Given the description of an element on the screen output the (x, y) to click on. 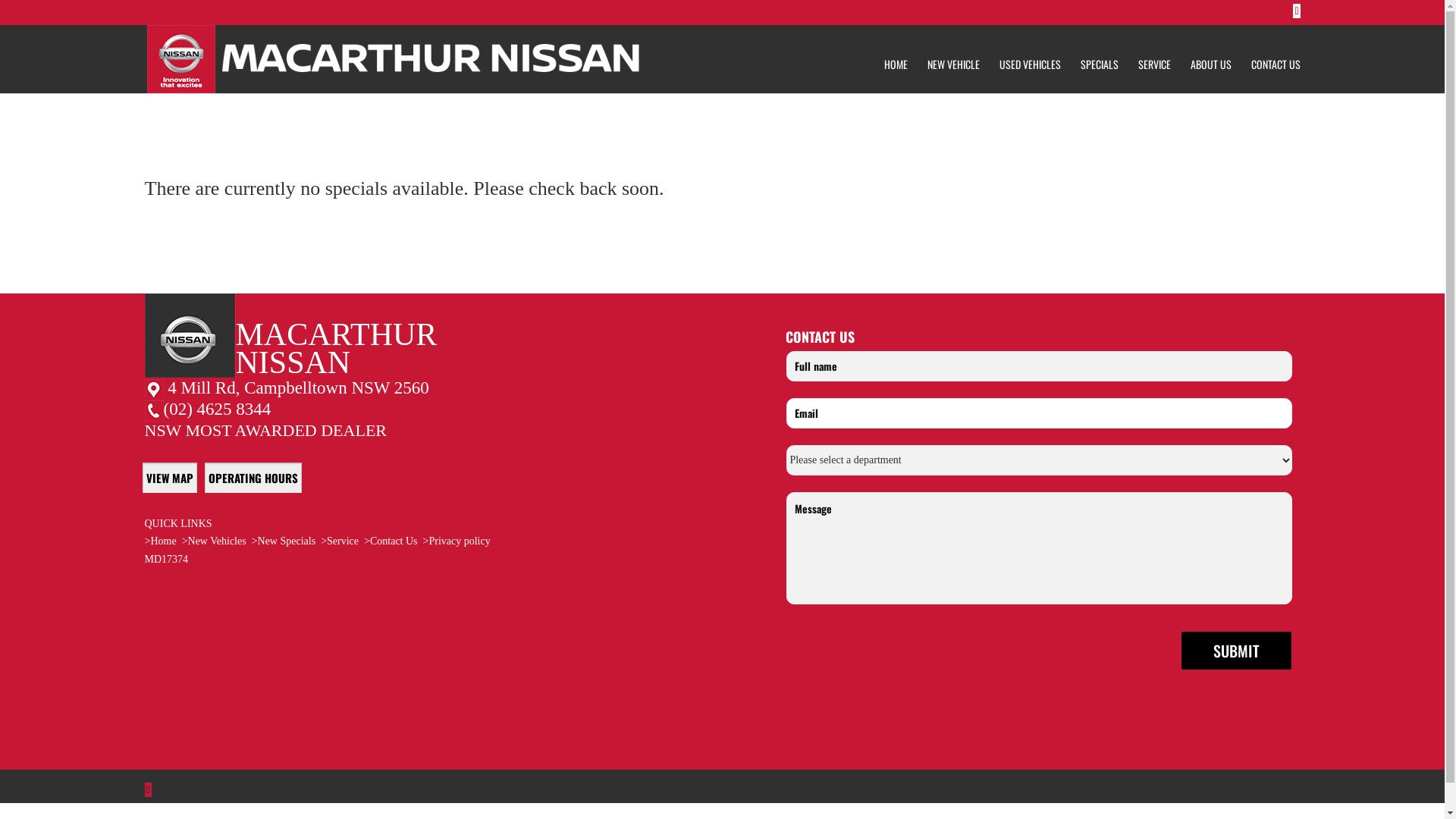
New Specials Element type: text (286, 540)
ABOUT US Element type: text (1210, 69)
CONTACT US Element type: text (1275, 69)
VIEW MAP Element type: text (169, 477)
NEW VEHICLE Element type: text (952, 69)
USED VEHICLES Element type: text (1029, 69)
HOME Element type: text (895, 69)
SERVICE Element type: text (1153, 69)
SPECIALS Element type: text (1098, 69)
Home Element type: text (162, 540)
OPERATING HOURS Element type: text (252, 477)
(02) 4625 8344 Element type: text (217, 408)
Submit Element type: text (1236, 650)
Contact Us Element type: text (393, 540)
New Vehicles Element type: text (217, 540)
Privacy policy Element type: text (458, 540)
Service Element type: text (343, 540)
